Given the description of an element on the screen output the (x, y) to click on. 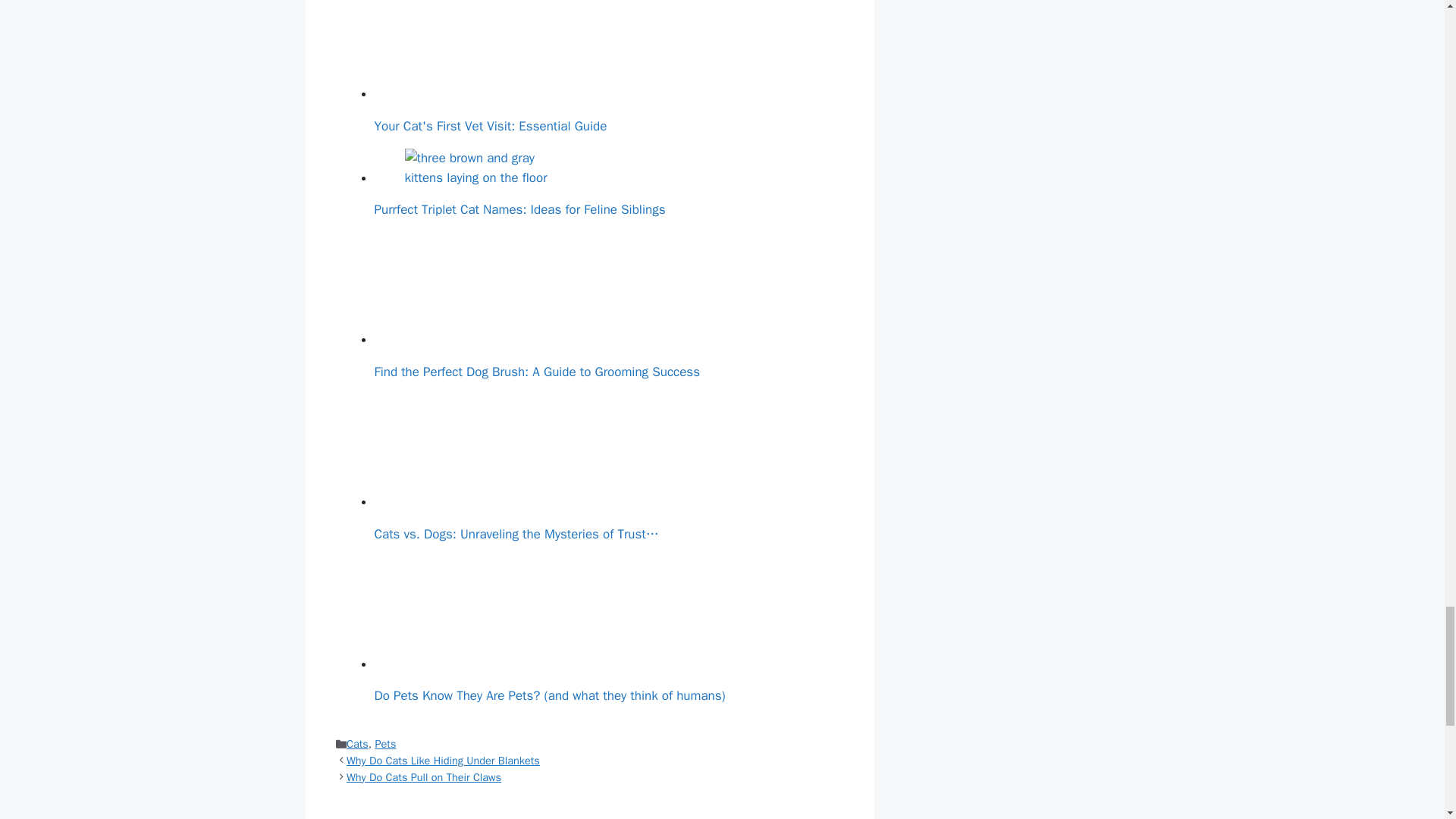
Find the Perfect Dog Brush: A Guide to Grooming Success (488, 287)
Purrfect Triplet Cat Names: Ideas for Feline Siblings (488, 167)
Your Cat's First Vet Visit: Essential Guide (488, 49)
